Given the description of an element on the screen output the (x, y) to click on. 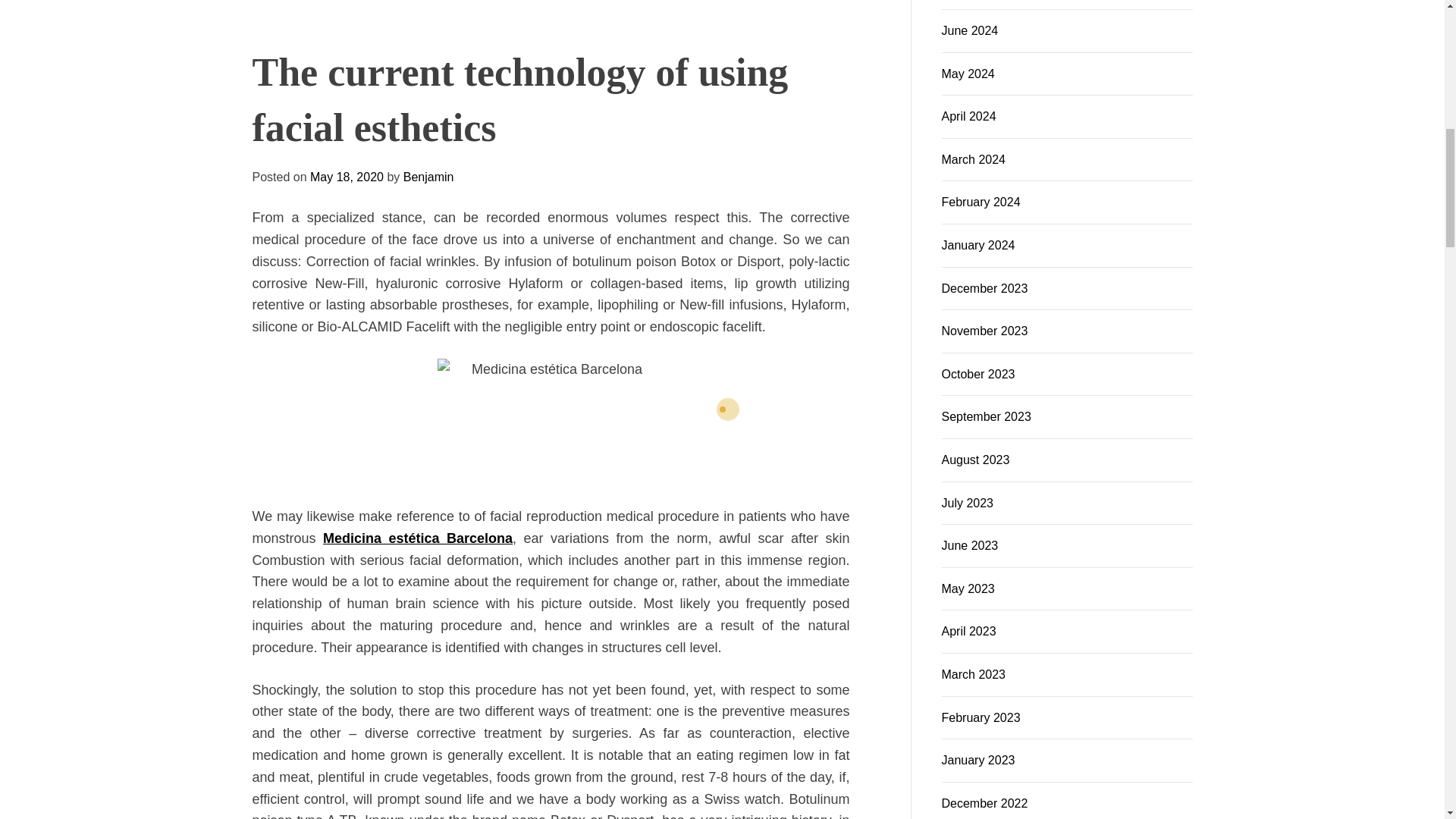
Benjamin (601, 710)
Benjamin (601, 710)
May 2024 (968, 73)
June 2024 (970, 30)
March 2024 (974, 159)
April 2024 (968, 115)
Benjamin (699, 569)
